Given the description of an element on the screen output the (x, y) to click on. 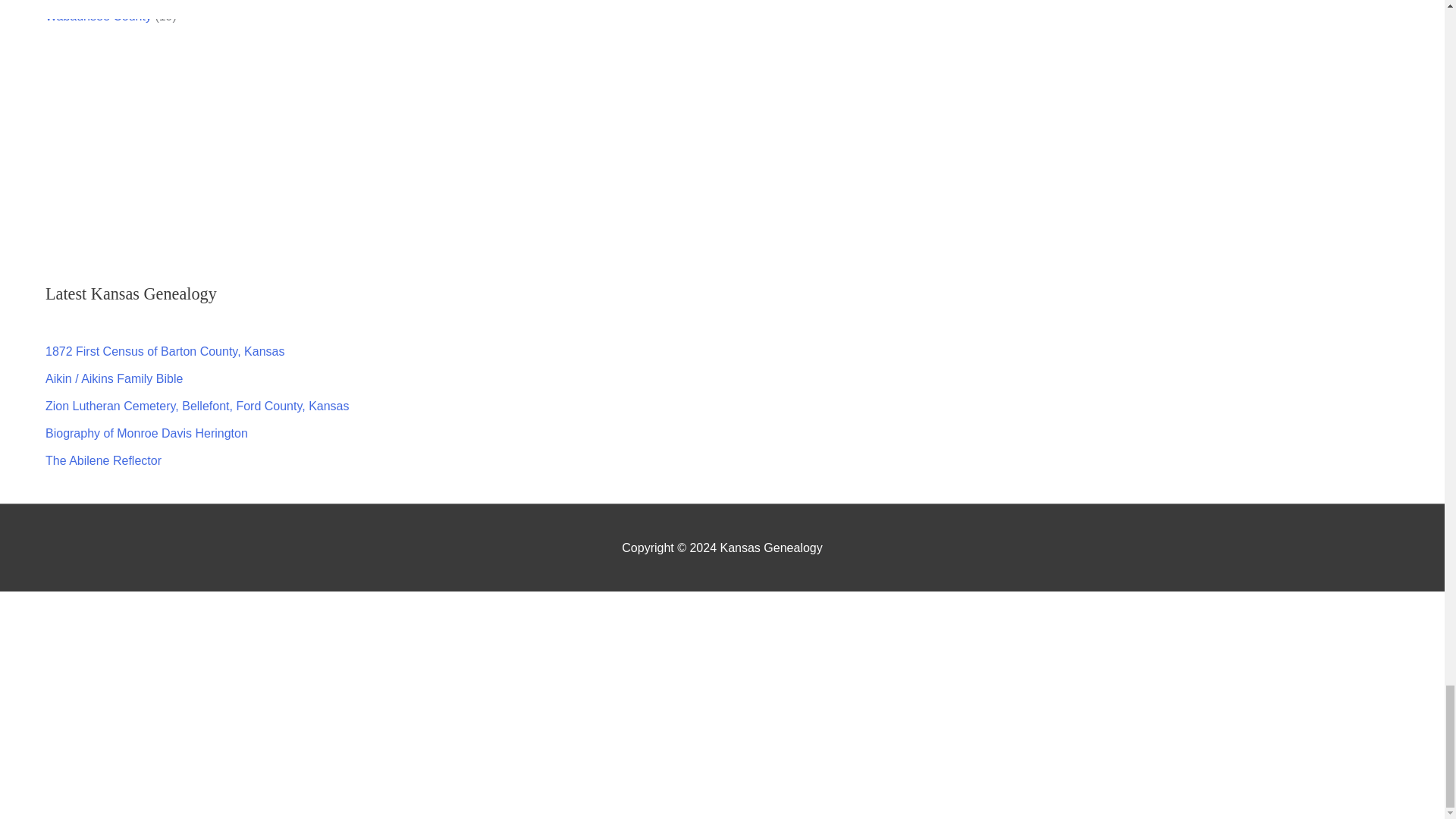
Advertisement (744, 142)
